Given the description of an element on the screen output the (x, y) to click on. 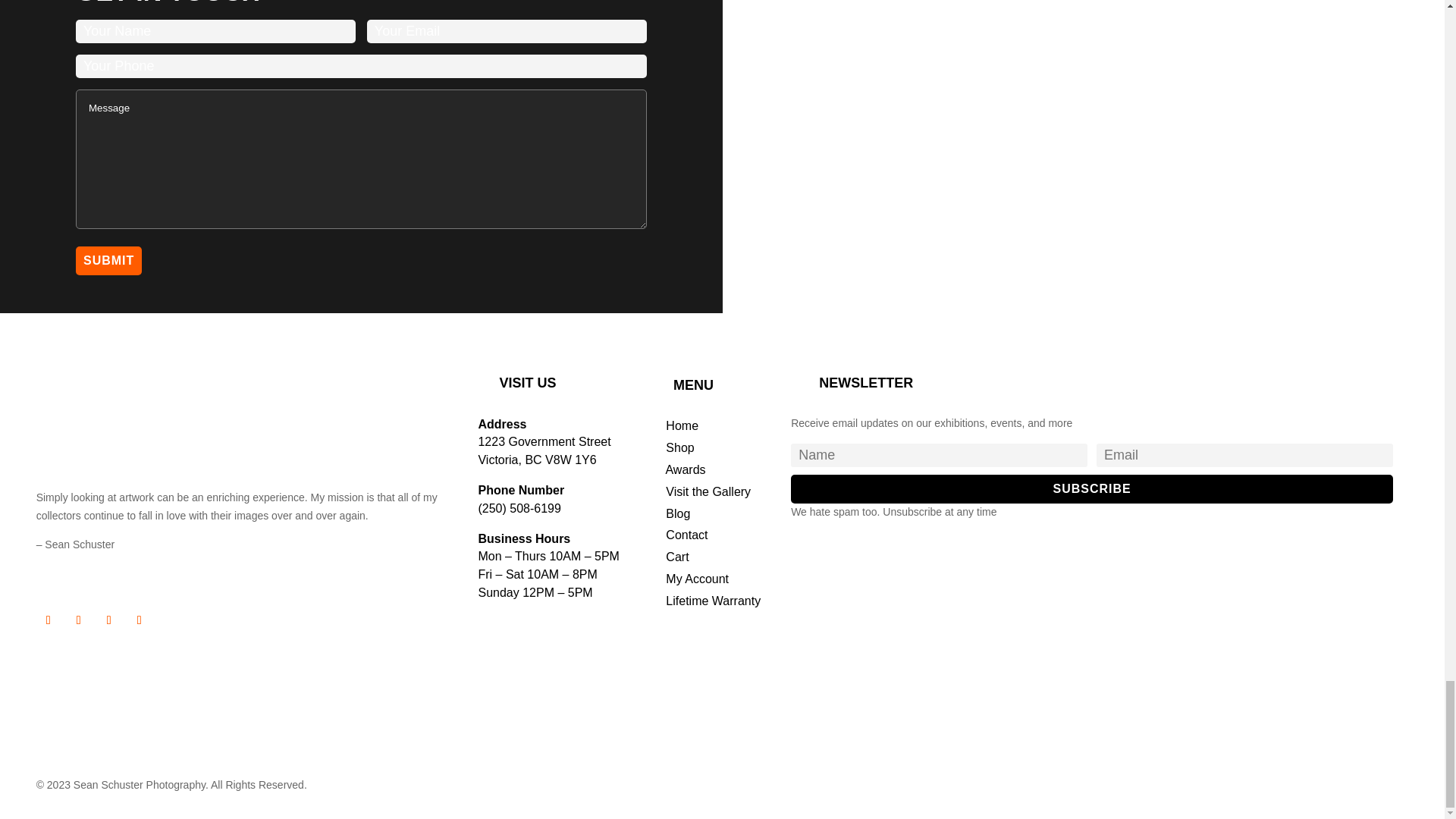
Follow on Facebook (48, 620)
Follow on Instagram (108, 620)
SUBSCRIBE (1091, 489)
Submit (108, 260)
Follow on Flickr (139, 620)
Submit (108, 260)
Follow on X (78, 620)
